Given the description of an element on the screen output the (x, y) to click on. 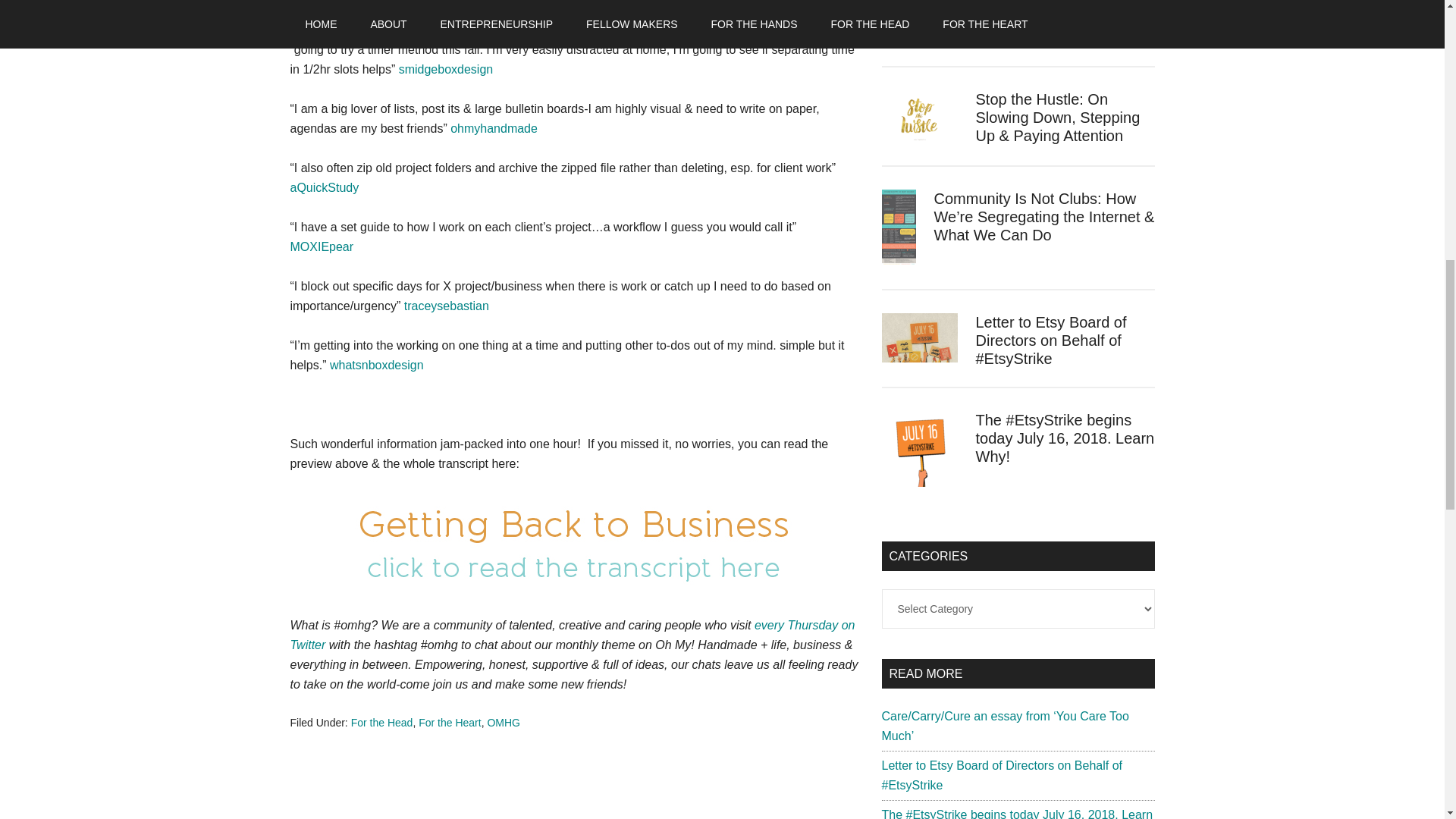
perideaudesigns (448, 10)
ohmyhandmade (491, 128)
smidgeboxdesign (445, 69)
